Given the description of an element on the screen output the (x, y) to click on. 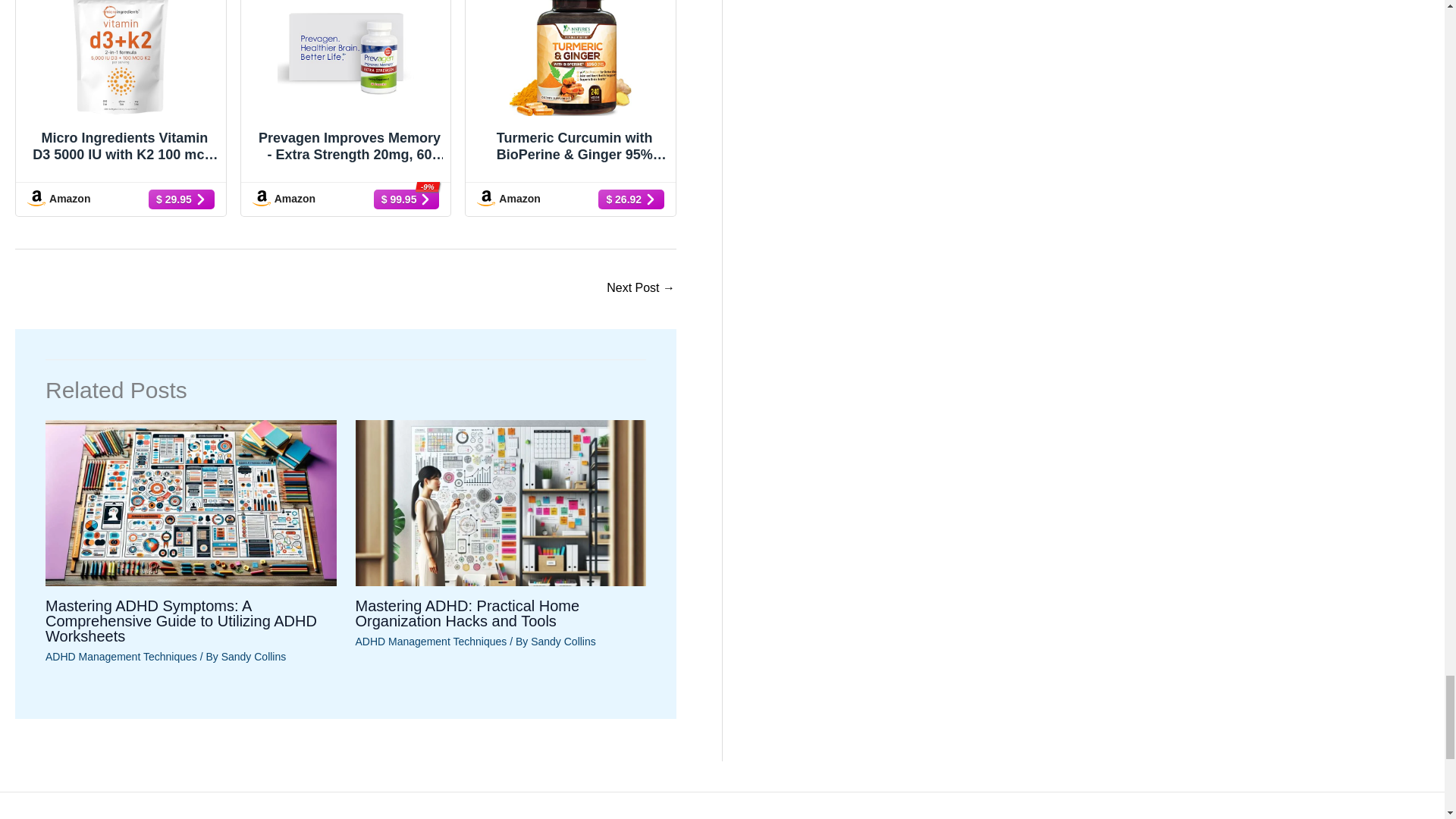
View all posts by Sandy Collins (253, 656)
View all posts by Sandy Collins (563, 641)
